Given the description of an element on the screen output the (x, y) to click on. 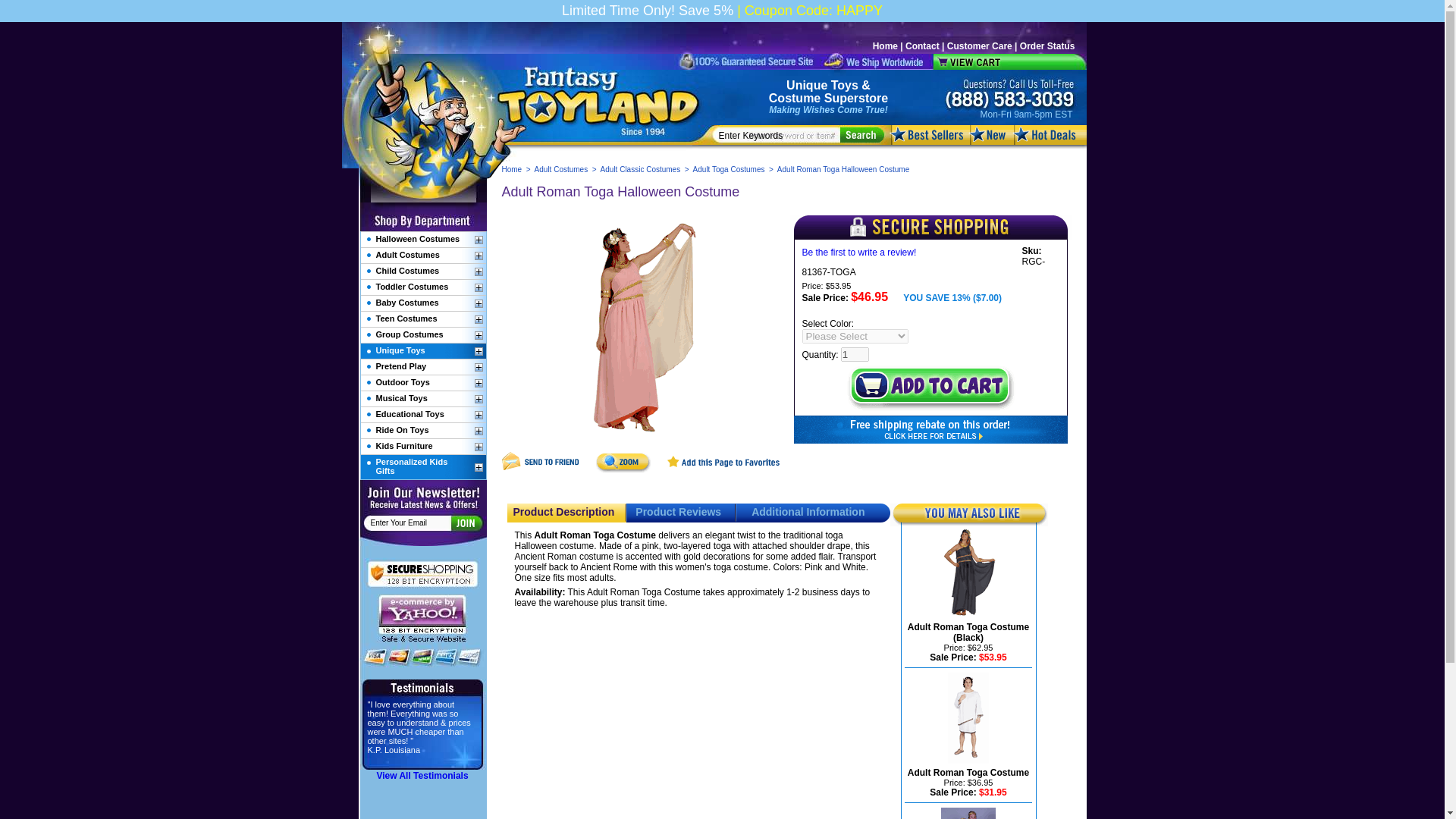
Enter Your Email (409, 522)
Submit (465, 522)
Unique Toys (822, 84)
bookmark this page (723, 470)
Order Status (1047, 45)
Adult Classic Costumes (640, 169)
Home (512, 169)
Adult Costumes (561, 169)
1 (855, 354)
Enter Keywords (779, 134)
